Given the description of an element on the screen output the (x, y) to click on. 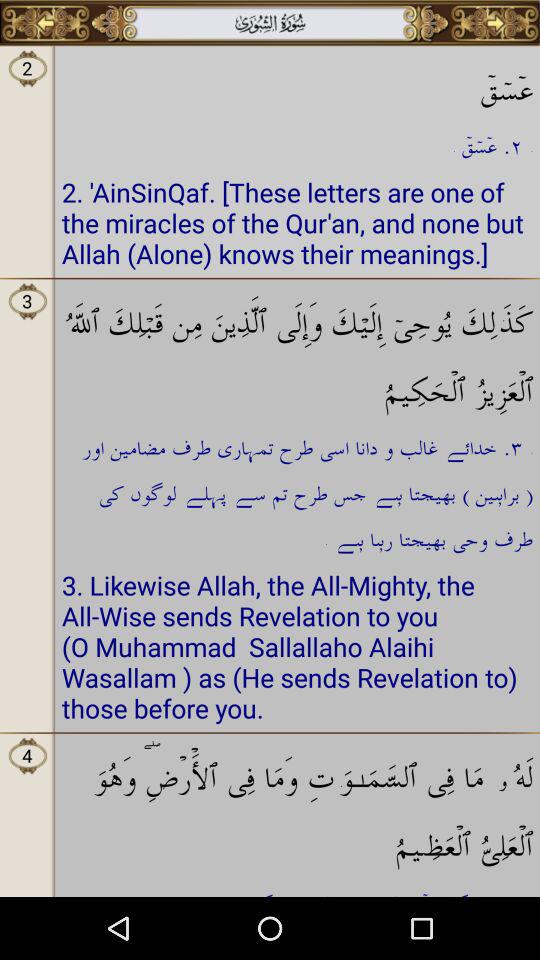
go back (45, 23)
